Given the description of an element on the screen output the (x, y) to click on. 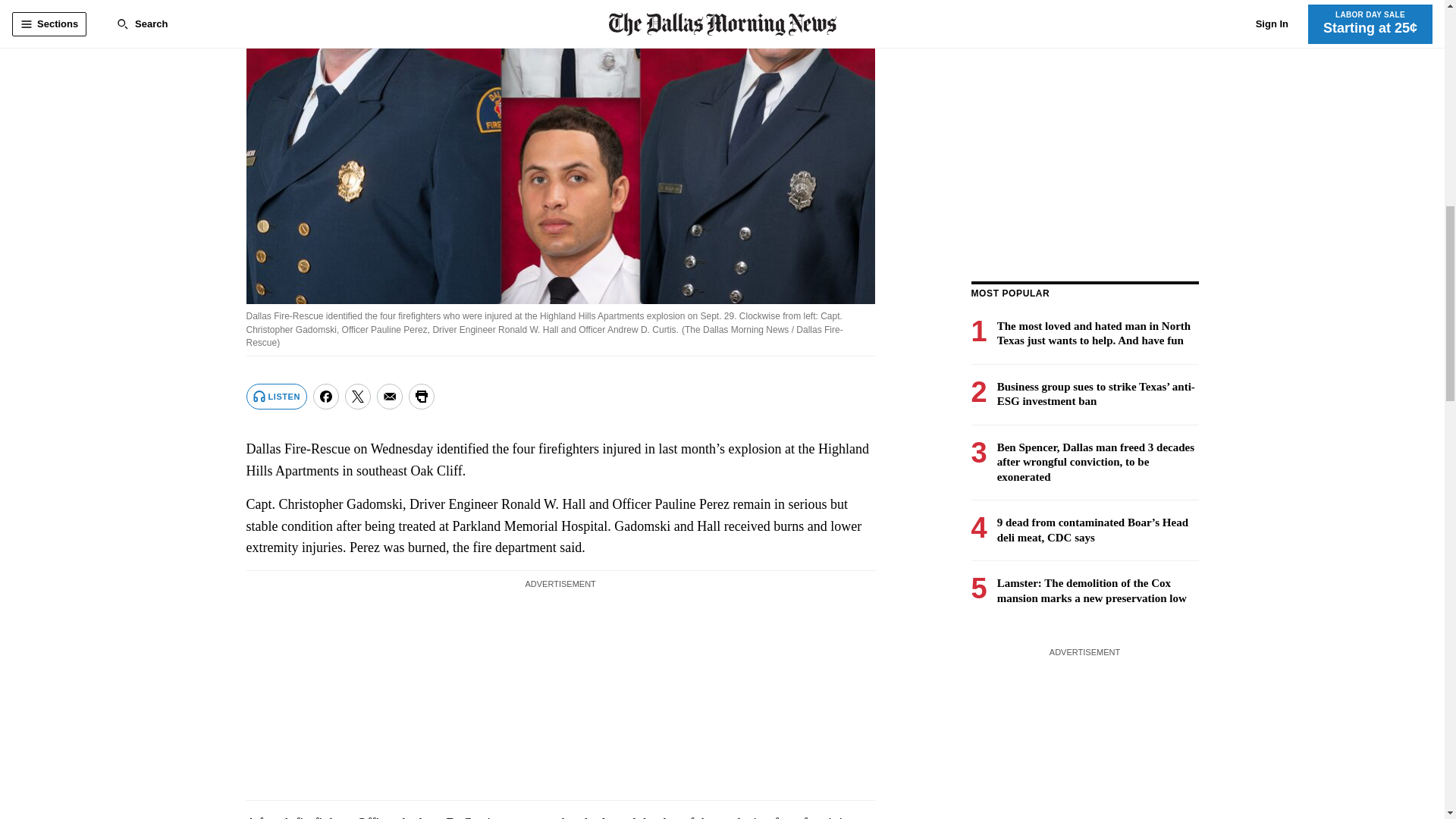
Share on Facebook (326, 396)
Print (421, 396)
Share on Twitter (358, 396)
Share via Email (390, 396)
